Given the description of an element on the screen output the (x, y) to click on. 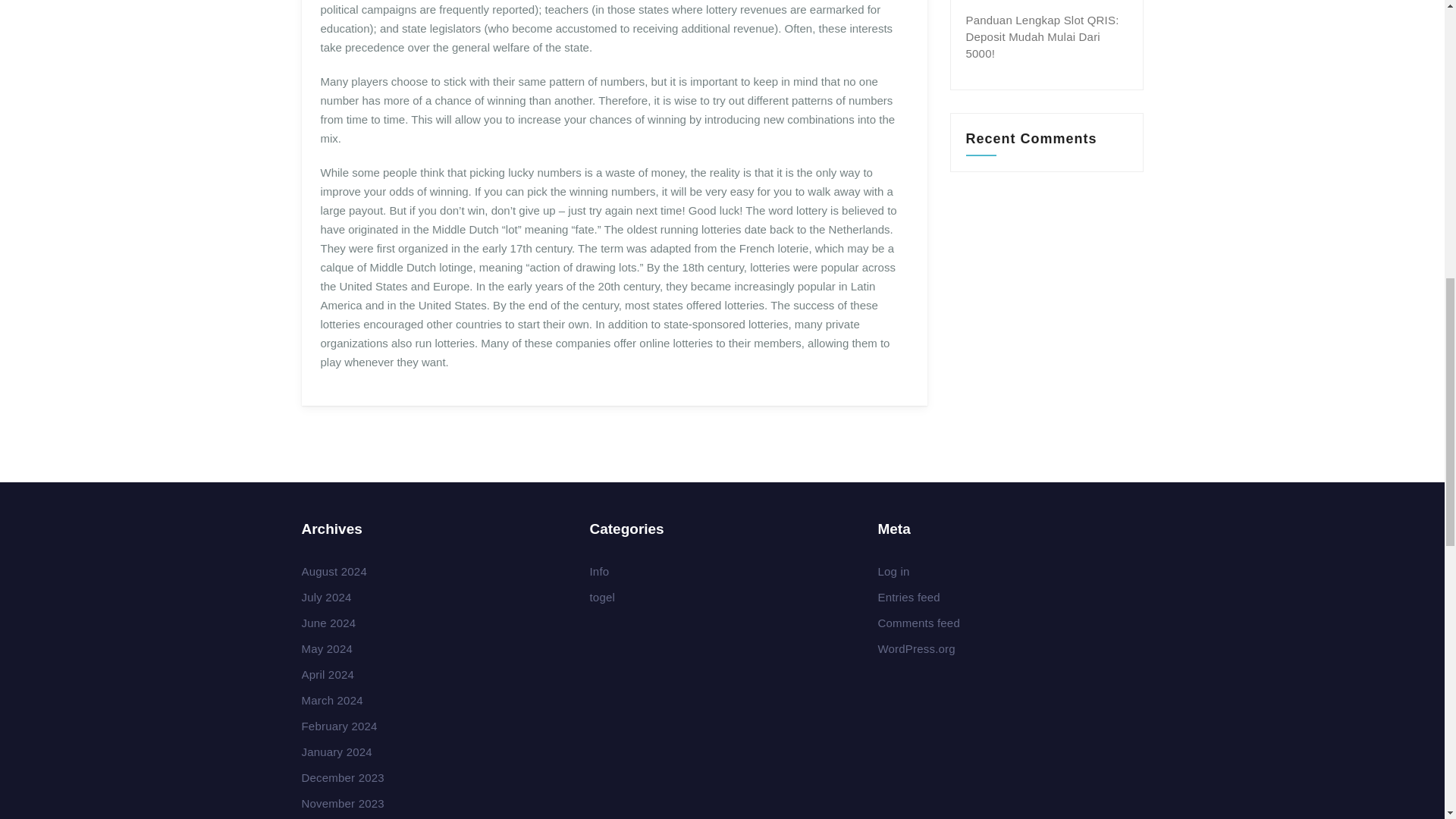
March 2024 (331, 699)
July 2024 (326, 596)
May 2024 (326, 648)
April 2024 (328, 674)
Panduan Lengkap Slot QRIS: Deposit Mudah Mulai Dari 5000! (1042, 36)
August 2024 (333, 571)
June 2024 (328, 622)
